Given the description of an element on the screen output the (x, y) to click on. 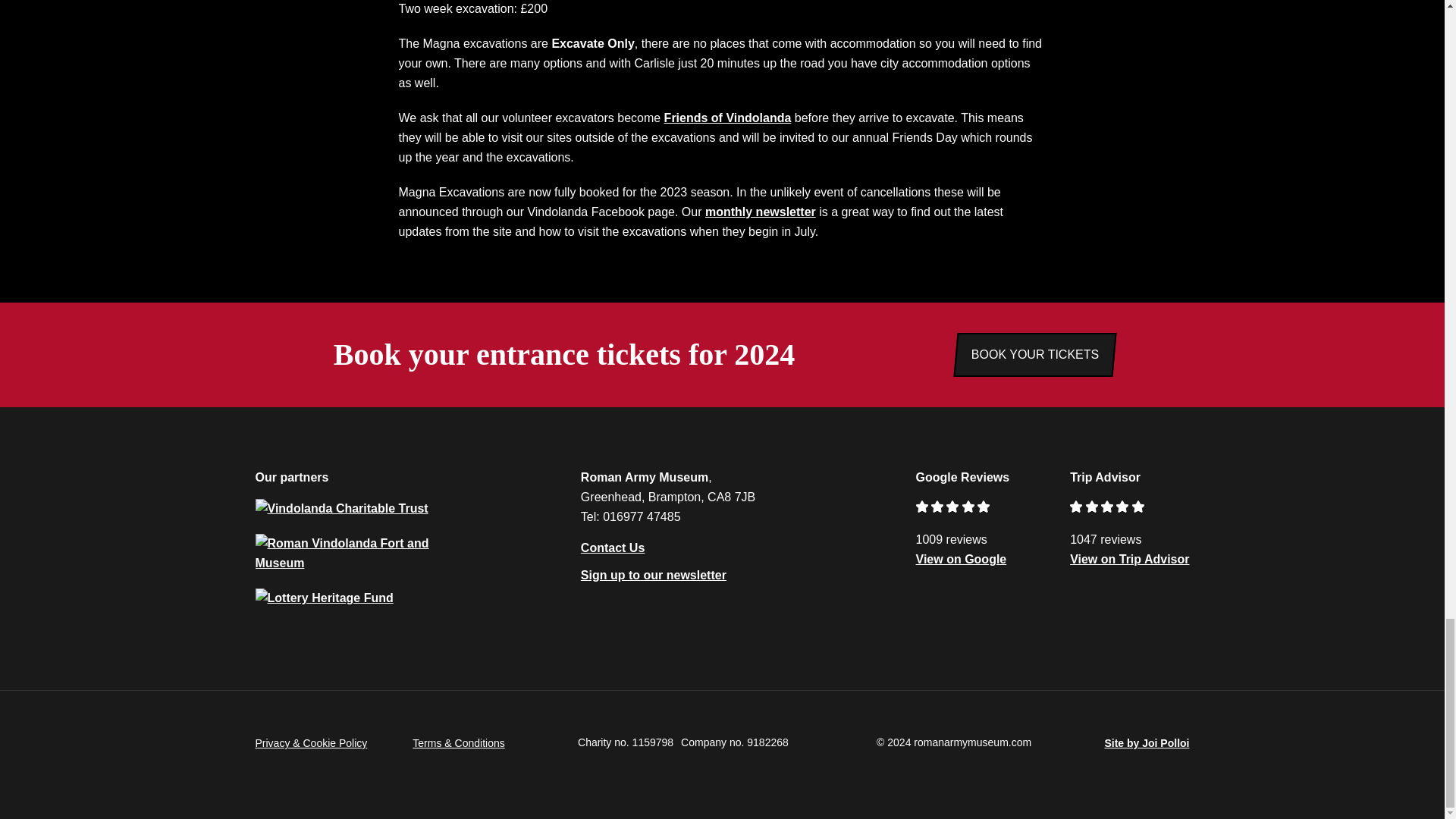
Contact Us (612, 547)
Sign up to our newsletter (653, 575)
View on Trip Advisor (1129, 558)
Site by Joi Polloi (1146, 748)
Friends of Vindolanda (727, 117)
monthly newsletter (759, 211)
BOOK YOUR TICKETS (1034, 354)
View on Google (961, 558)
